Given the description of an element on the screen output the (x, y) to click on. 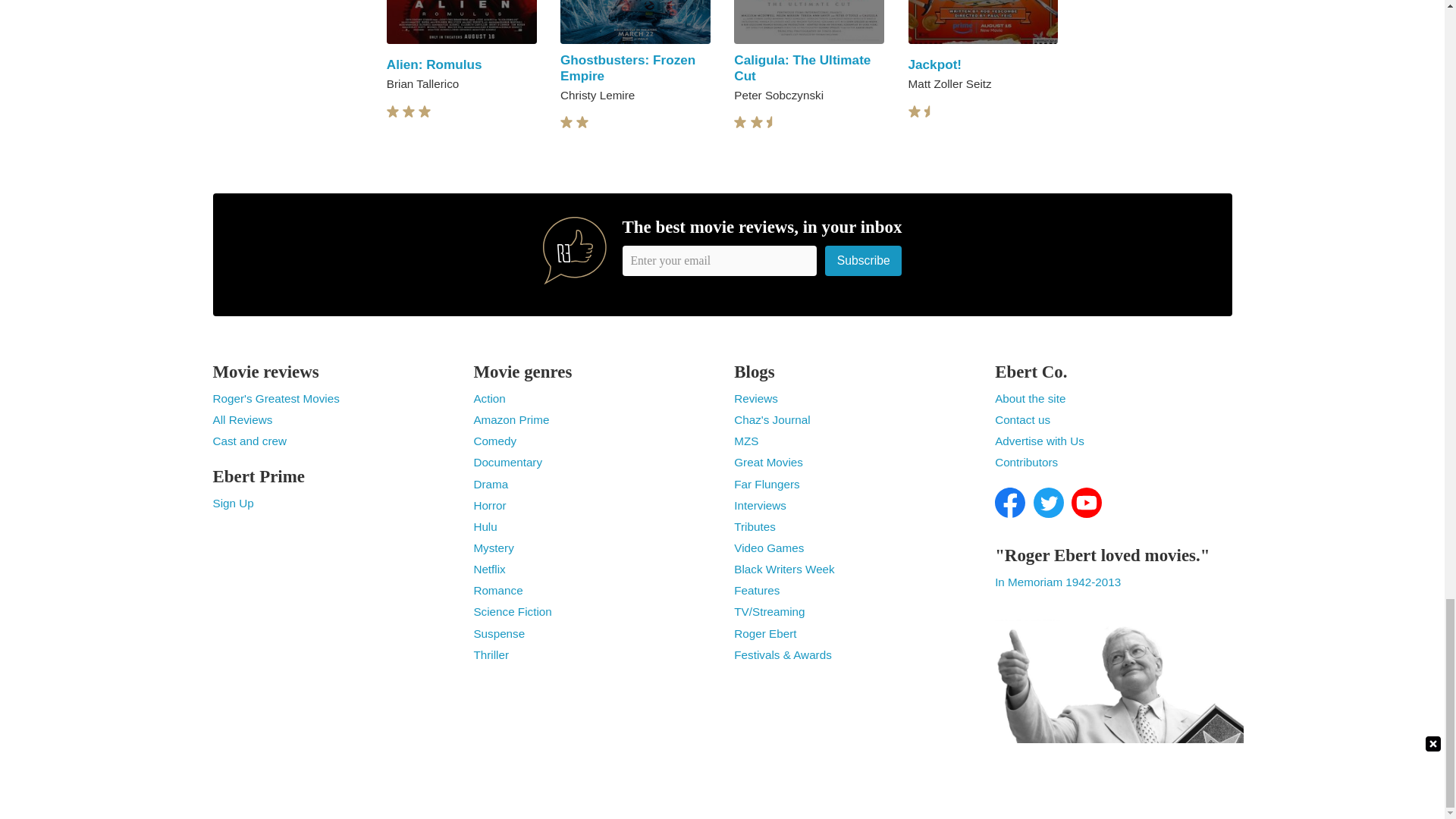
Cast and crew (248, 440)
Action (489, 398)
Caligula: The Ultimate Cut (801, 67)
star-full (582, 122)
Roger's Greatest Movies (275, 398)
star-full (566, 122)
star-full (424, 111)
star-full (756, 122)
Subscribe (863, 260)
Subscribe (863, 260)
